Given the description of an element on the screen output the (x, y) to click on. 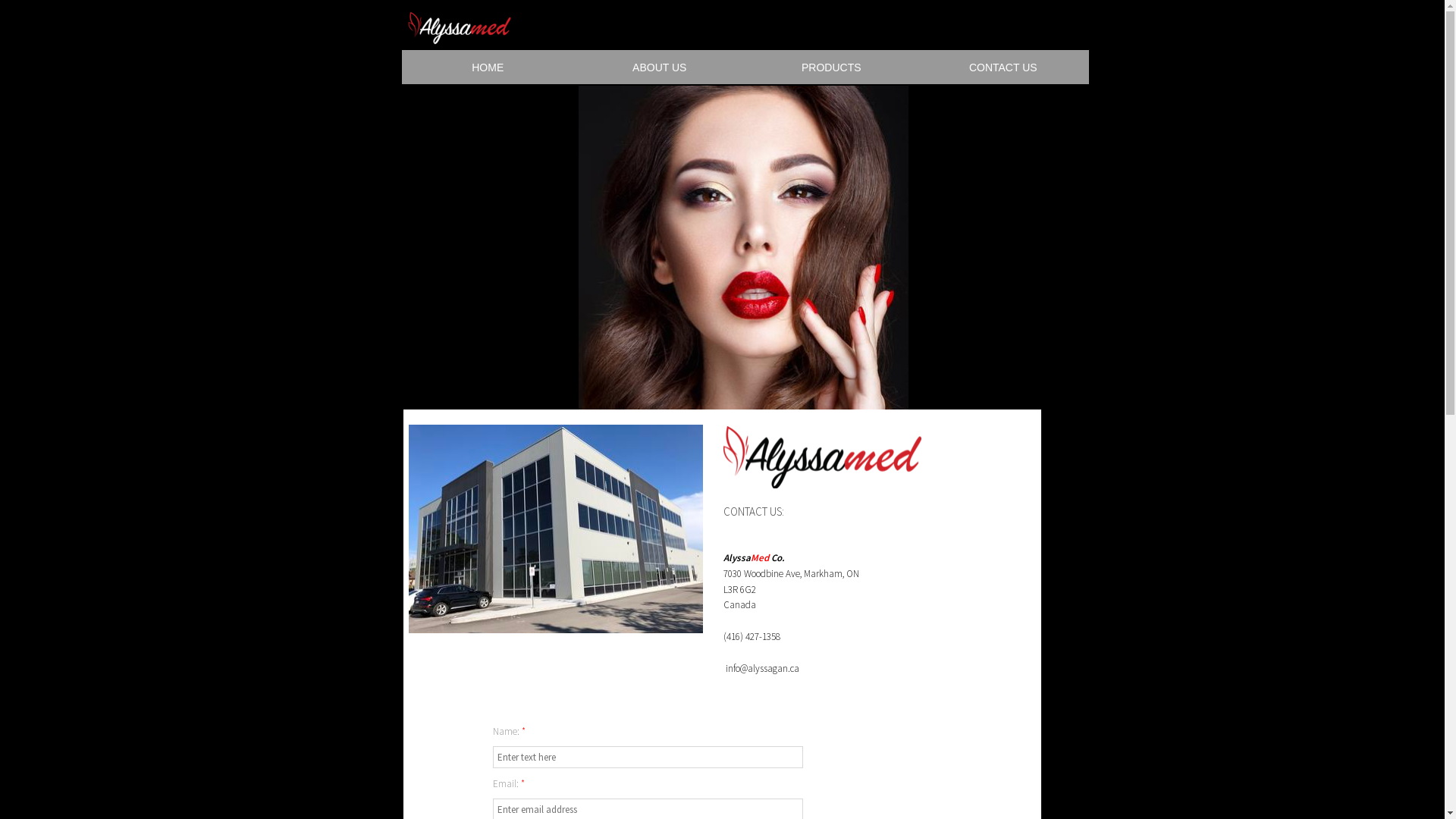
PRODUCTS Element type: text (831, 67)
HOME Element type: text (487, 67)
ABOUT US Element type: text (659, 67)
CONTACT US Element type: text (1003, 67)
